Given the description of an element on the screen output the (x, y) to click on. 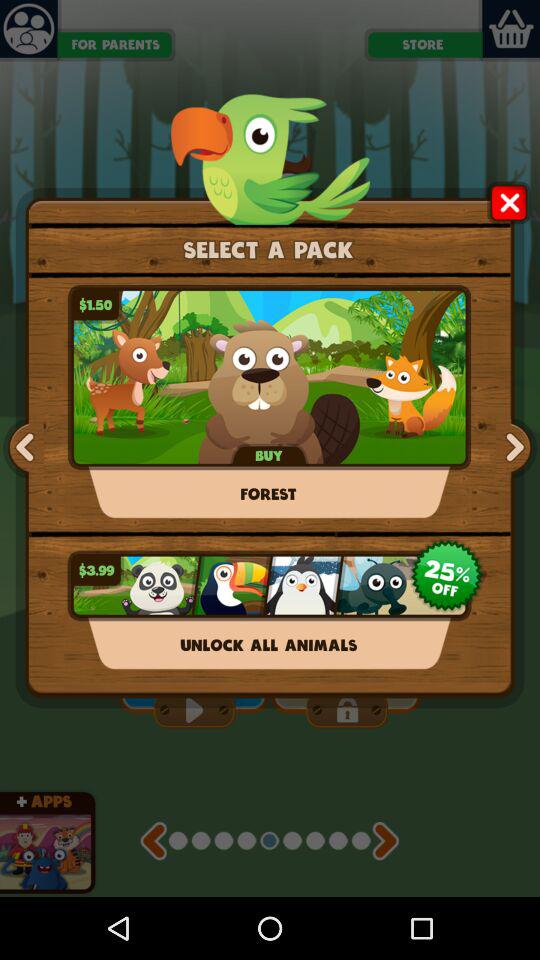
click on the forward button at the center right side of the page (512, 448)
